Given the description of an element on the screen output the (x, y) to click on. 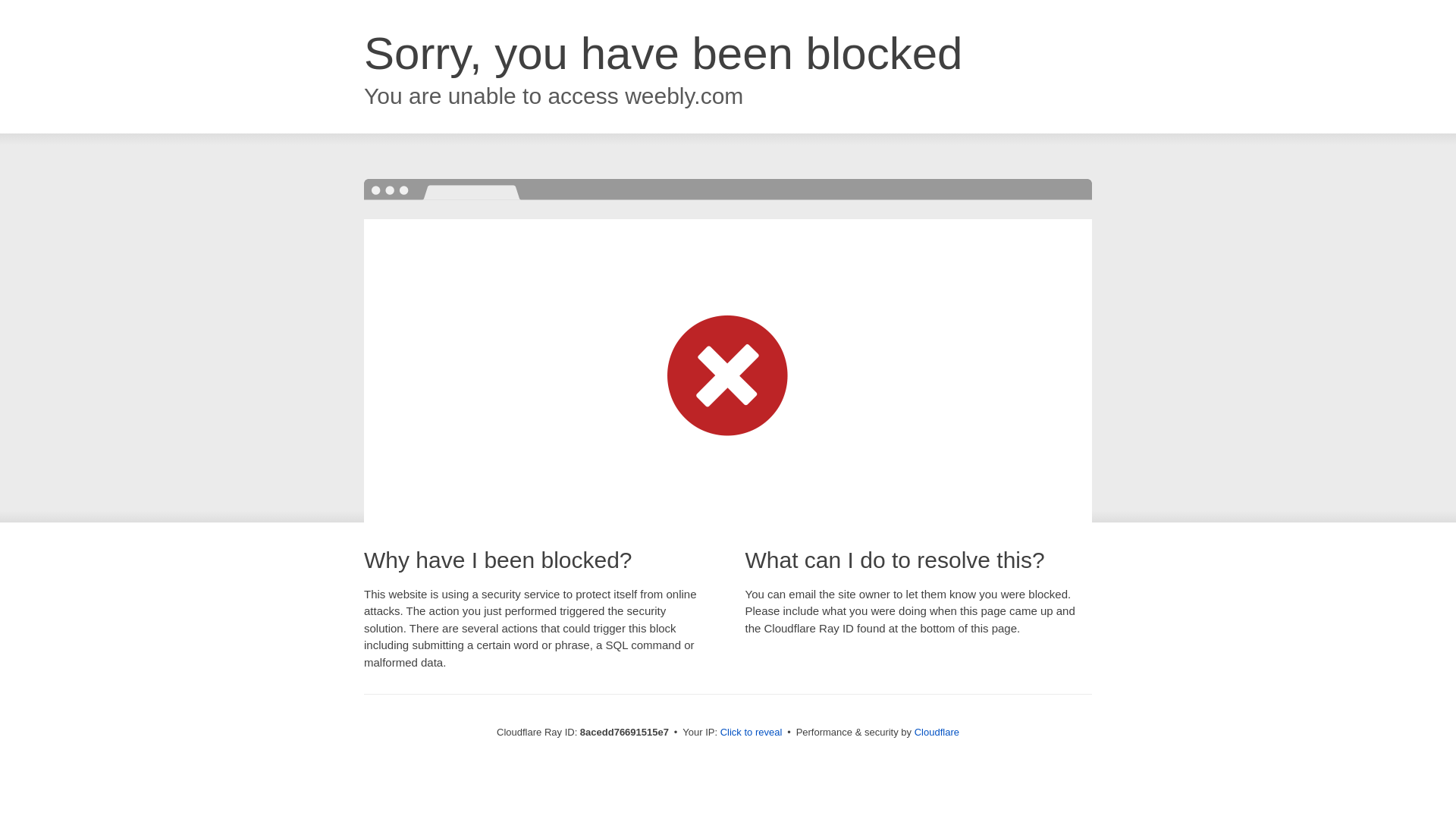
Click to reveal (751, 732)
Cloudflare (936, 731)
